Given the description of an element on the screen output the (x, y) to click on. 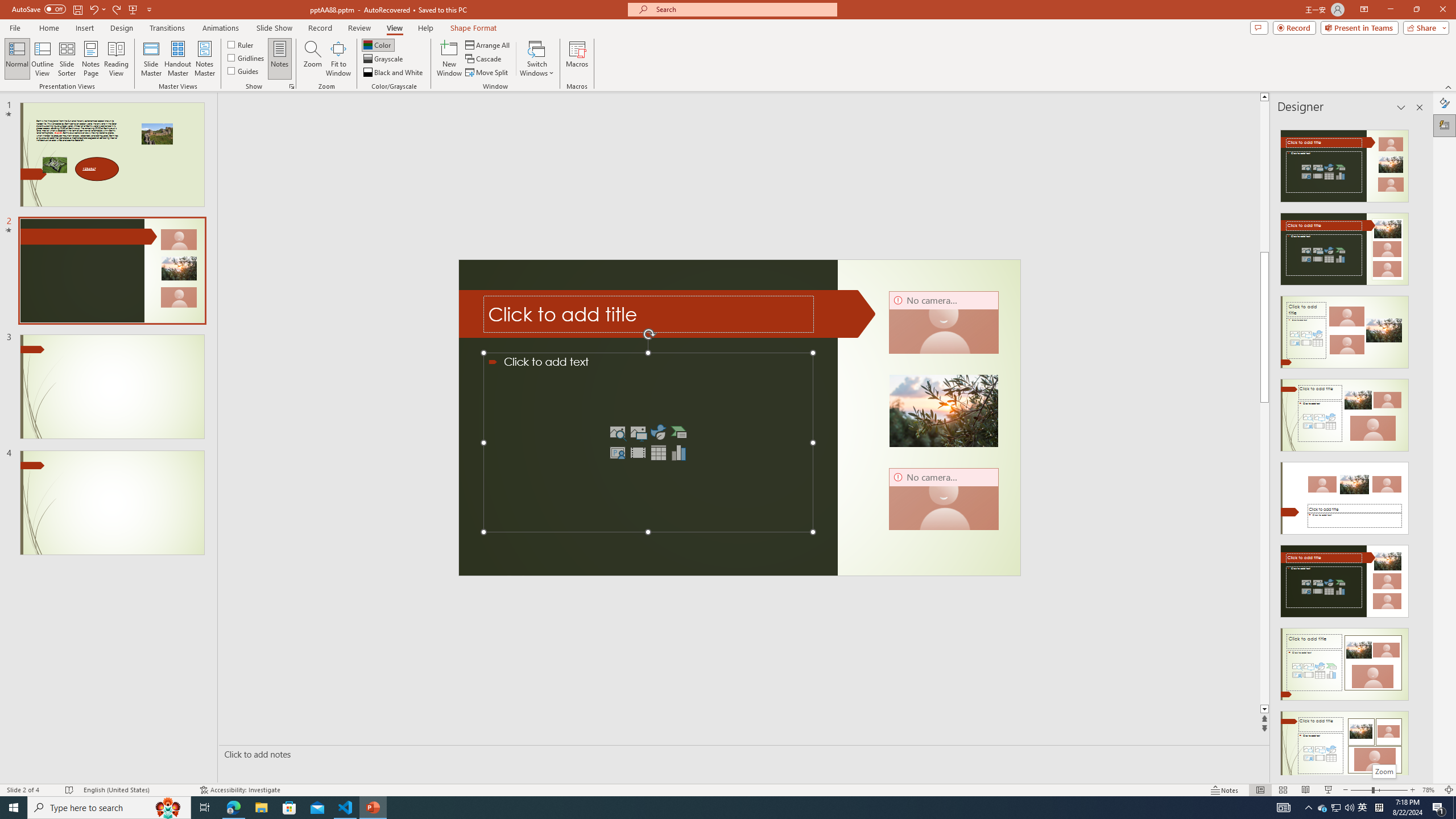
Outline View (42, 58)
Notes (279, 58)
Macros (576, 58)
Close up of an olive branch on a sunset (943, 411)
Notes Master (204, 58)
Insert Table (658, 452)
